Given the description of an element on the screen output the (x, y) to click on. 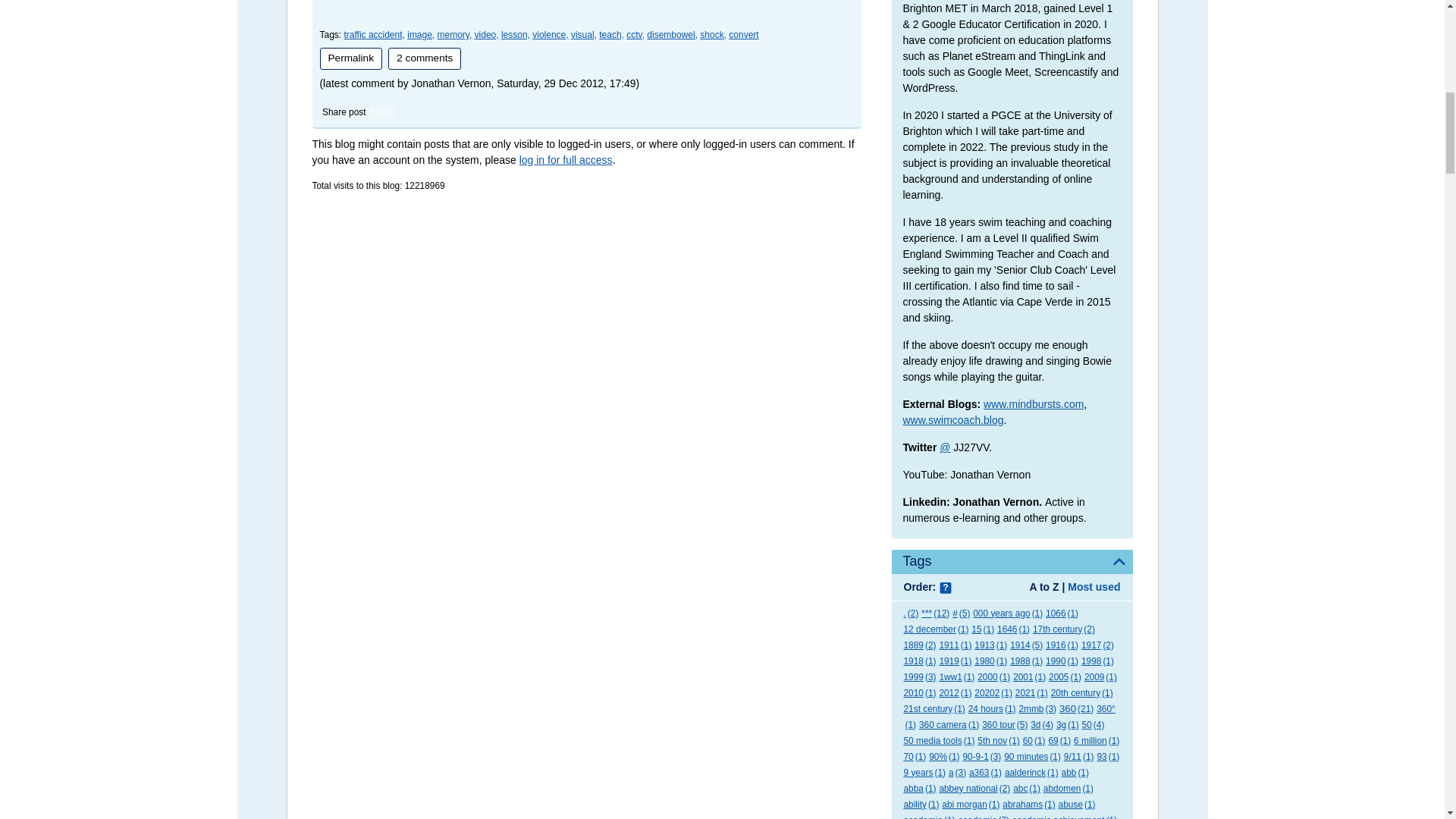
www.swimcoach.blog (952, 419)
Most used (1093, 586)
Help with Order: (945, 588)
Tags (1011, 561)
www.mindbursts.com (1033, 404)
